Given the description of an element on the screen output the (x, y) to click on. 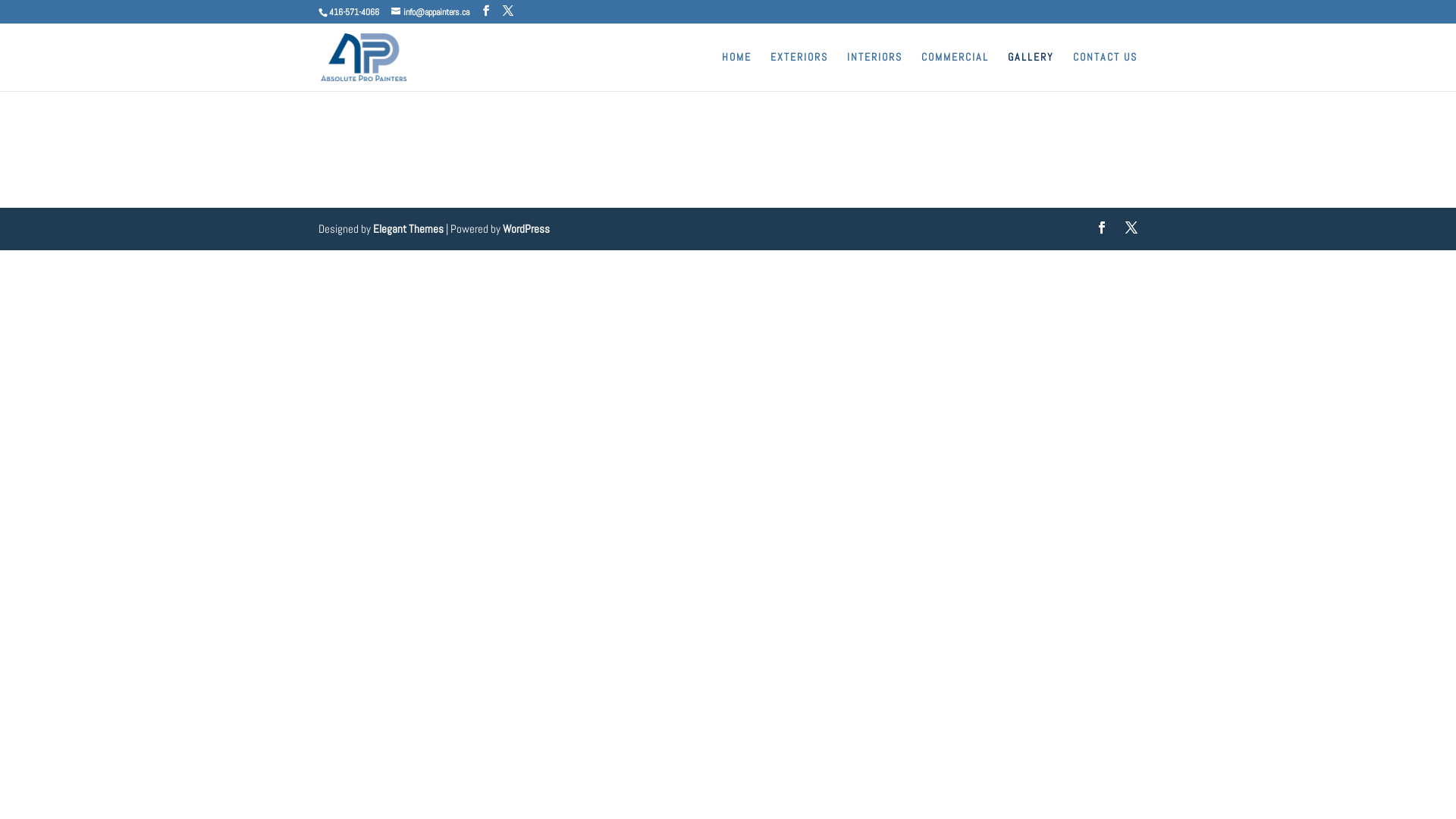
WordPress Element type: text (525, 228)
info@appainters.ca Element type: text (430, 12)
Elegant Themes Element type: text (408, 228)
CONTACT US Element type: text (1105, 71)
GALLERY Element type: text (1030, 71)
EXTERIORS Element type: text (799, 71)
INTERIORS Element type: text (874, 71)
COMMERCIAL Element type: text (954, 71)
HOME Element type: text (736, 71)
